Given the description of an element on the screen output the (x, y) to click on. 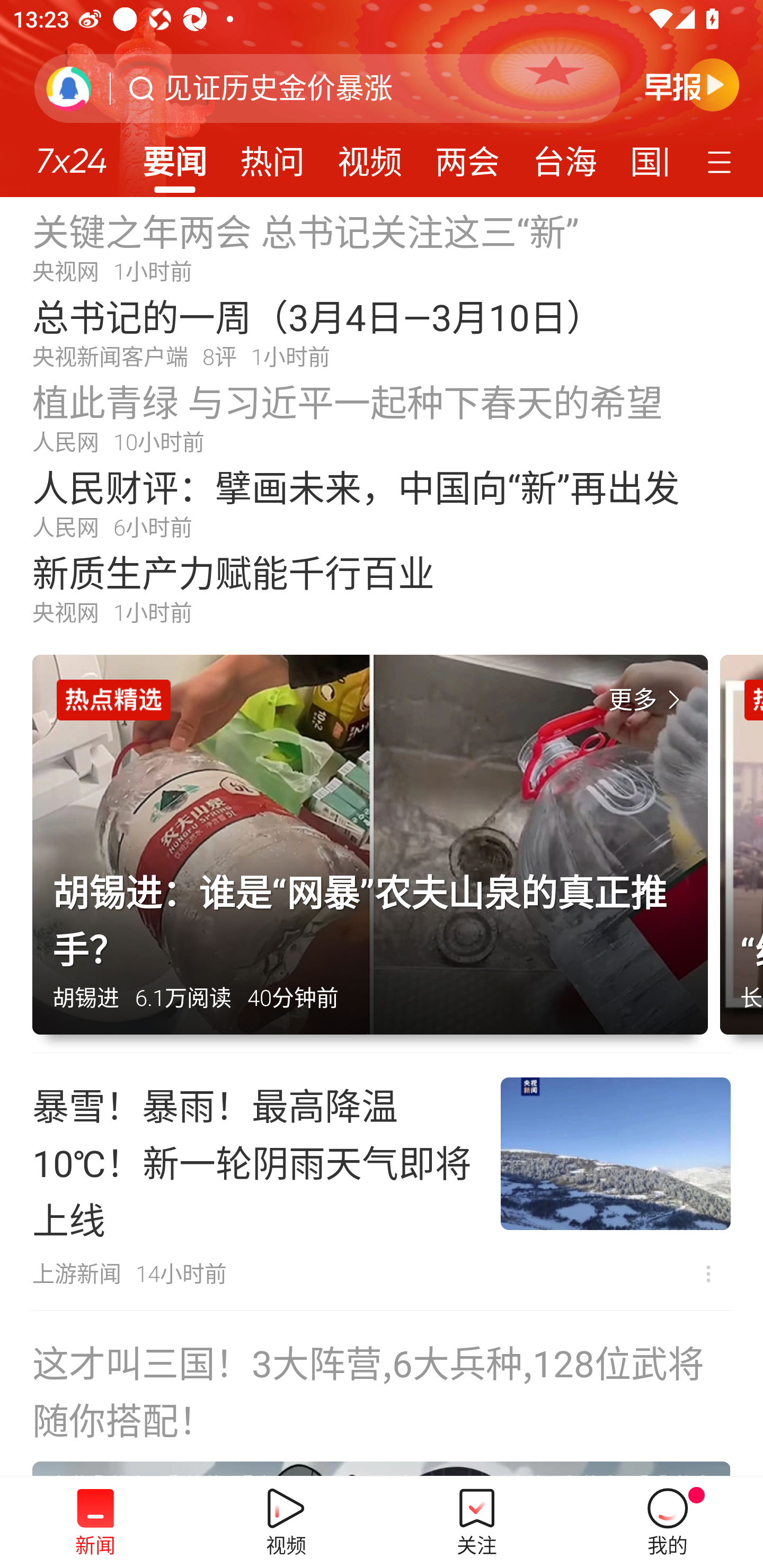
早晚报 (691, 84)
刷新 (68, 88)
见证历史金价暴涨 (278, 88)
7x24 (70, 154)
要闻 (174, 155)
热问 (272, 155)
视频 (369, 155)
两会 (466, 155)
台海 (564, 155)
 定制频道 (721, 160)
关键之年两会 总书记关注这三“新” 央视网 1小时前 (381, 245)
总书记的一周（3月4日—3月10日） 央视新闻客户端 8评 1小时前 (381, 331)
植此青绿 与习近平一起种下春天的希望 人民网 10小时前 (381, 416)
人民财评：擘画未来，中国向“新”再出发 人民网 6小时前 (381, 502)
新质生产力赋能千行百业 央视网 1小时前 (381, 587)
更多  胡锡进：谁是“网暴”农夫山泉的真正推手？ 胡锡进   6.1万阅读   40分钟前 (376, 853)
更多  (648, 699)
暴雪！暴雨！最高降温10℃！新一轮阴雨天气即将上线 上游新闻 14小时前  不感兴趣 (381, 1181)
 不感兴趣 (707, 1273)
这才叫三国！3大阵营,6大兵种,128位武将随你搭配！ (381, 1393)
